Given the description of an element on the screen output the (x, y) to click on. 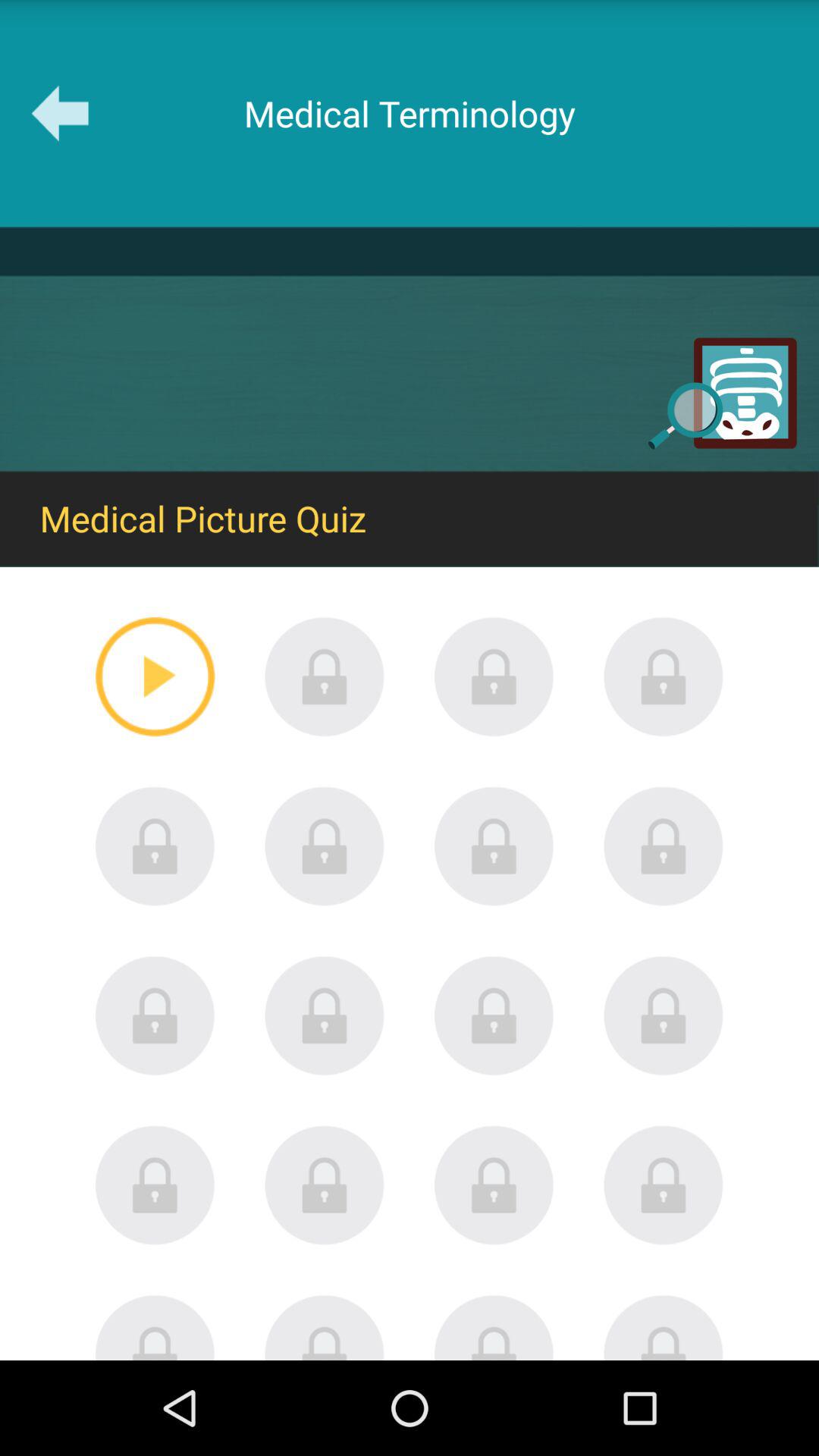
locked item (663, 676)
